Given the description of an element on the screen output the (x, y) to click on. 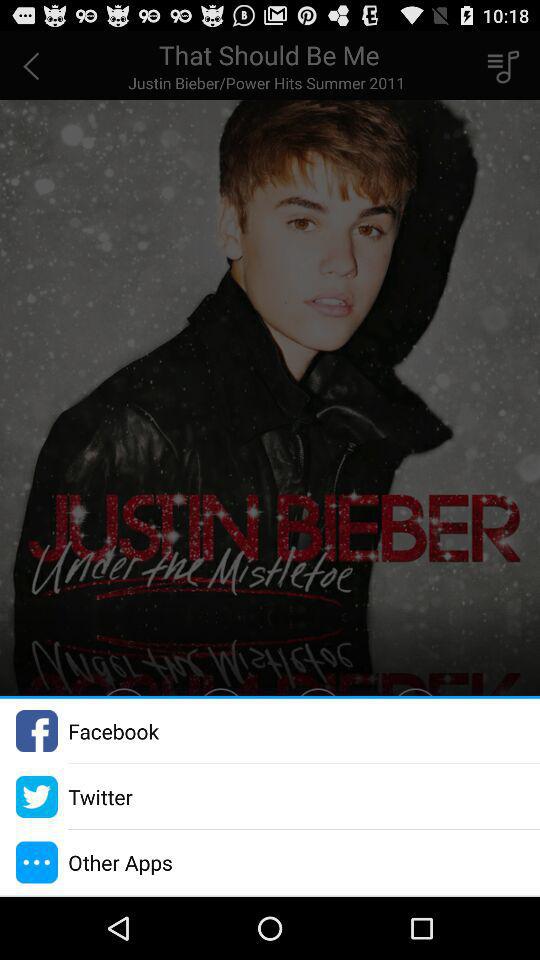
scroll to the twitter icon (100, 796)
